Given the description of an element on the screen output the (x, y) to click on. 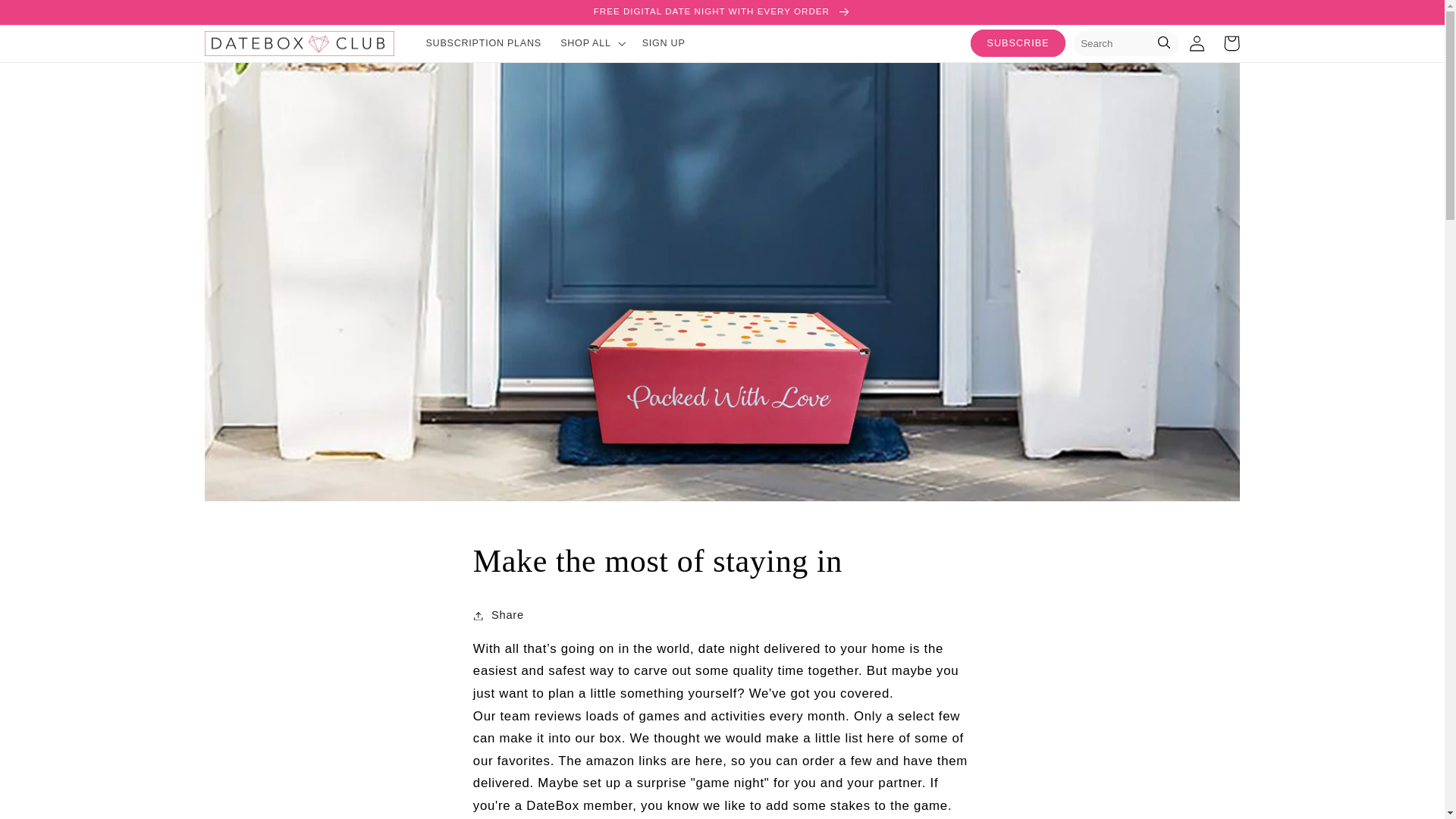
Account (1196, 42)
Skip to content (48, 18)
Cart (1231, 42)
SUBSCRIPTION PLANS (483, 42)
SUBSCRIBE (1017, 42)
SIGN UP (662, 42)
Search (1163, 43)
